Given the description of an element on the screen output the (x, y) to click on. 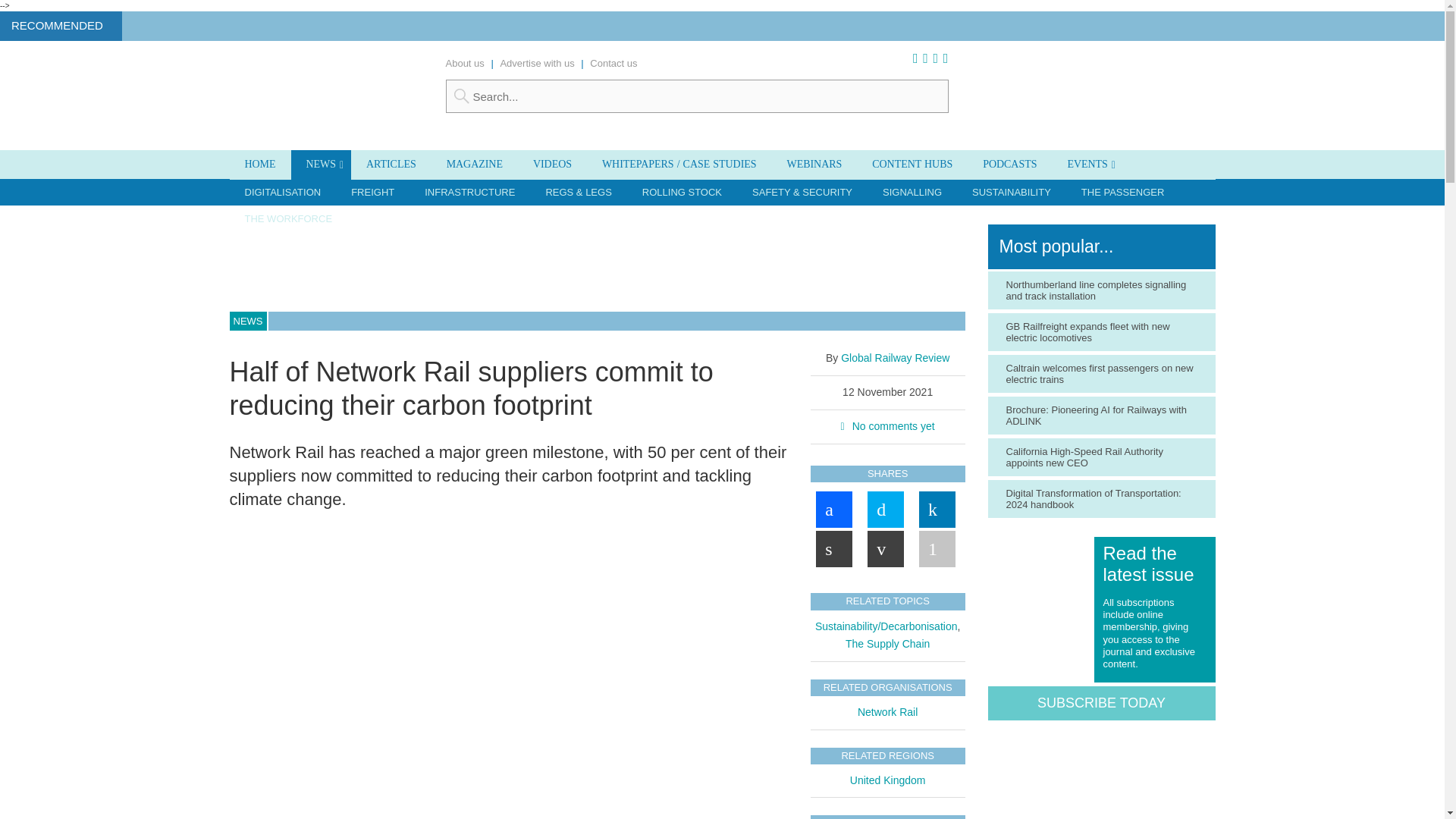
NEWS (320, 164)
Search (697, 96)
HOME (258, 164)
Contact us (613, 62)
Advertise with us (536, 62)
About us (464, 62)
